Given the description of an element on the screen output the (x, y) to click on. 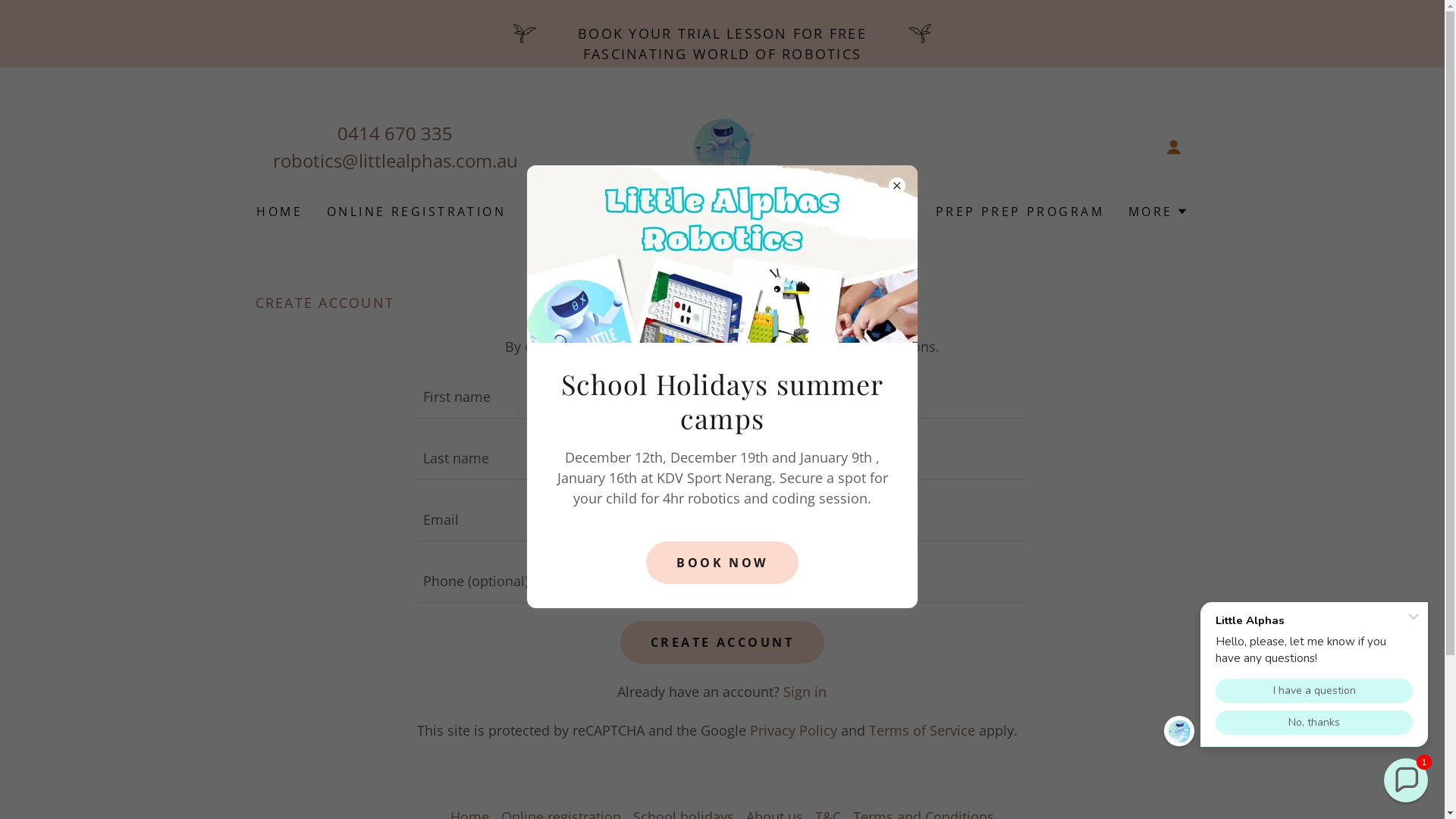
CREATE ACCOUNT Element type: text (722, 642)
SCHOOL HOLIDAYS Element type: text (837, 211)
Terms of Service Element type: text (922, 730)
Little Alphas Element type: hover (721, 145)
Privacy Policy Element type: text (793, 730)
HOME Element type: text (279, 211)
MORE Element type: text (1158, 211)
ONLINE REGISTRATION Element type: text (416, 211)
0414 670 335 Element type: text (394, 132)
Re:amaze Chat Element type: hover (1298, 670)
ROBOTICS & CODING APPS Element type: text (634, 211)
PREP PREP PROGRAM Element type: text (1019, 211)
Sign in Element type: text (804, 691)
robotics@littlealphas.com.au Element type: text (395, 159)
BOOK NOW Element type: text (721, 562)
